Given the description of an element on the screen output the (x, y) to click on. 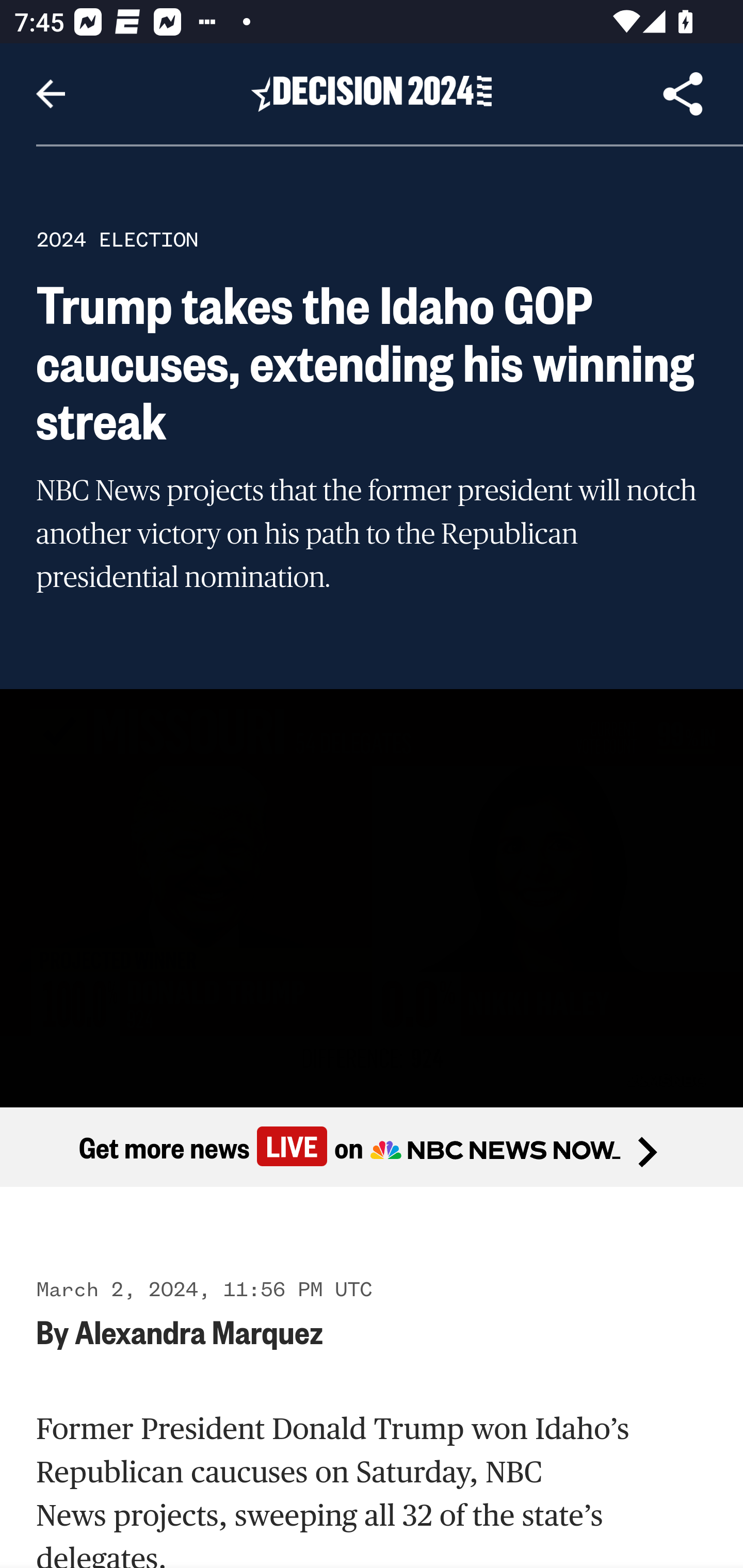
Navigate up (50, 93)
Share Article, button (683, 94)
Header, Decision 2024 (371, 93)
2024 ELECTION (117, 239)
